Given the description of an element on the screen output the (x, y) to click on. 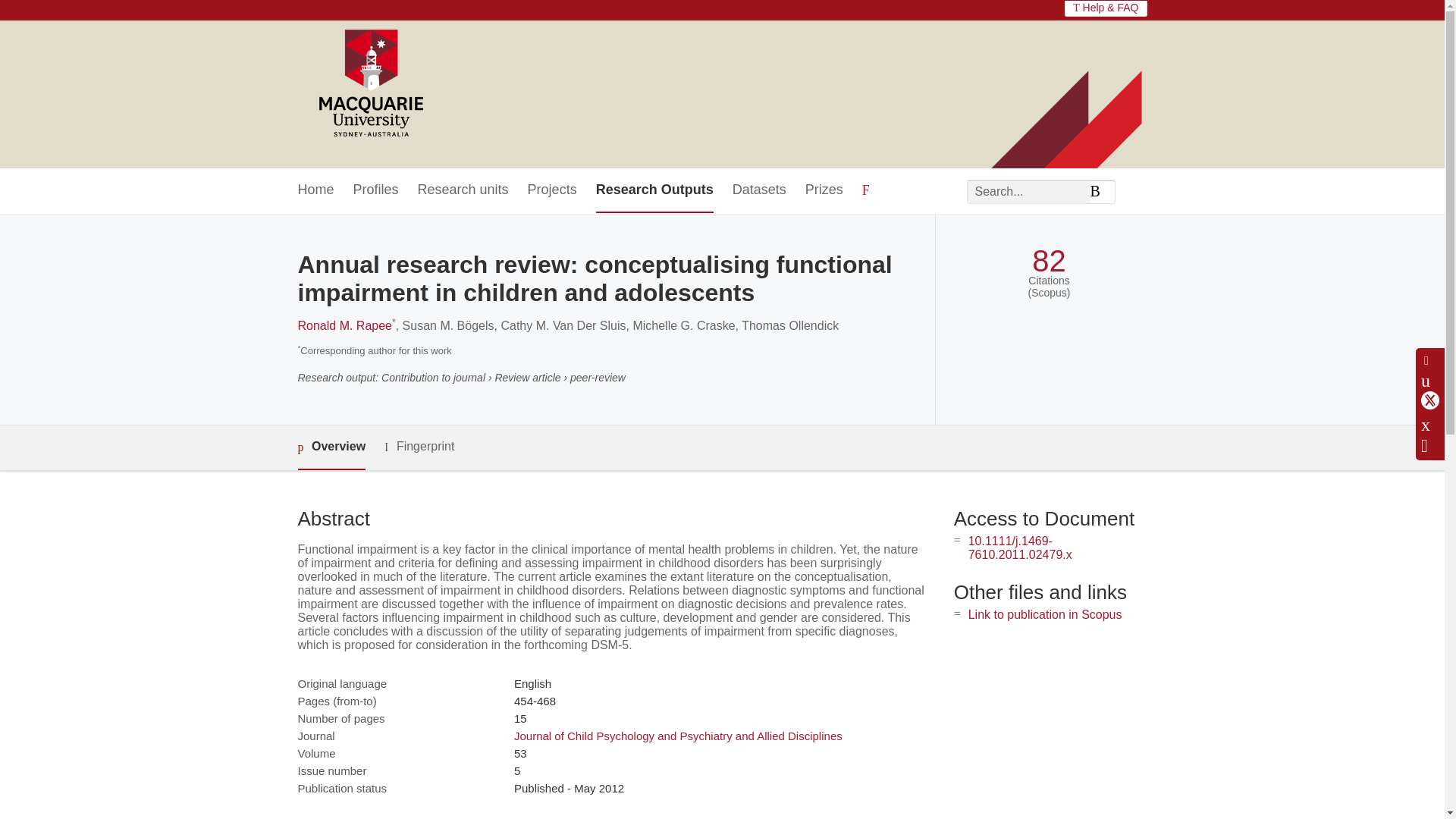
Profiles (375, 190)
Research Outputs (654, 190)
82 (1048, 261)
Projects (551, 190)
Fingerprint (419, 446)
Link to publication in Scopus (1045, 614)
Datasets (759, 190)
Ronald M. Rapee (344, 325)
